Given the description of an element on the screen output the (x, y) to click on. 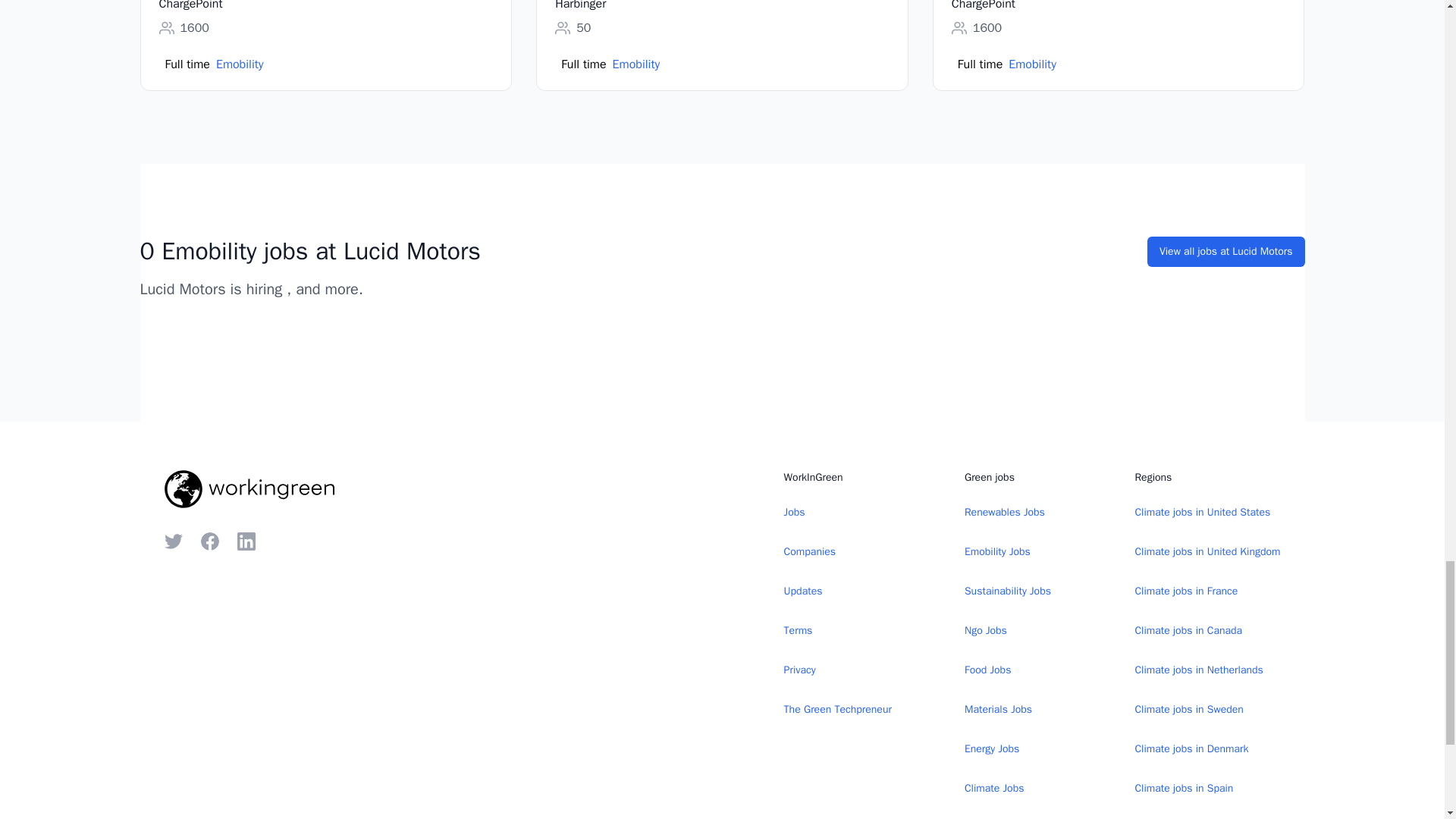
Updates (803, 591)
Terms (798, 630)
ChargePoint (983, 6)
ChargePoint (190, 6)
Emobility (1033, 64)
Emobility (636, 64)
Harbinger (579, 6)
View all jobs at Lucid Motors (1225, 251)
Privacy (799, 670)
Jobs (794, 512)
The Green Techpreneur (837, 709)
Companies (809, 552)
Emobility (239, 64)
